Given the description of an element on the screen output the (x, y) to click on. 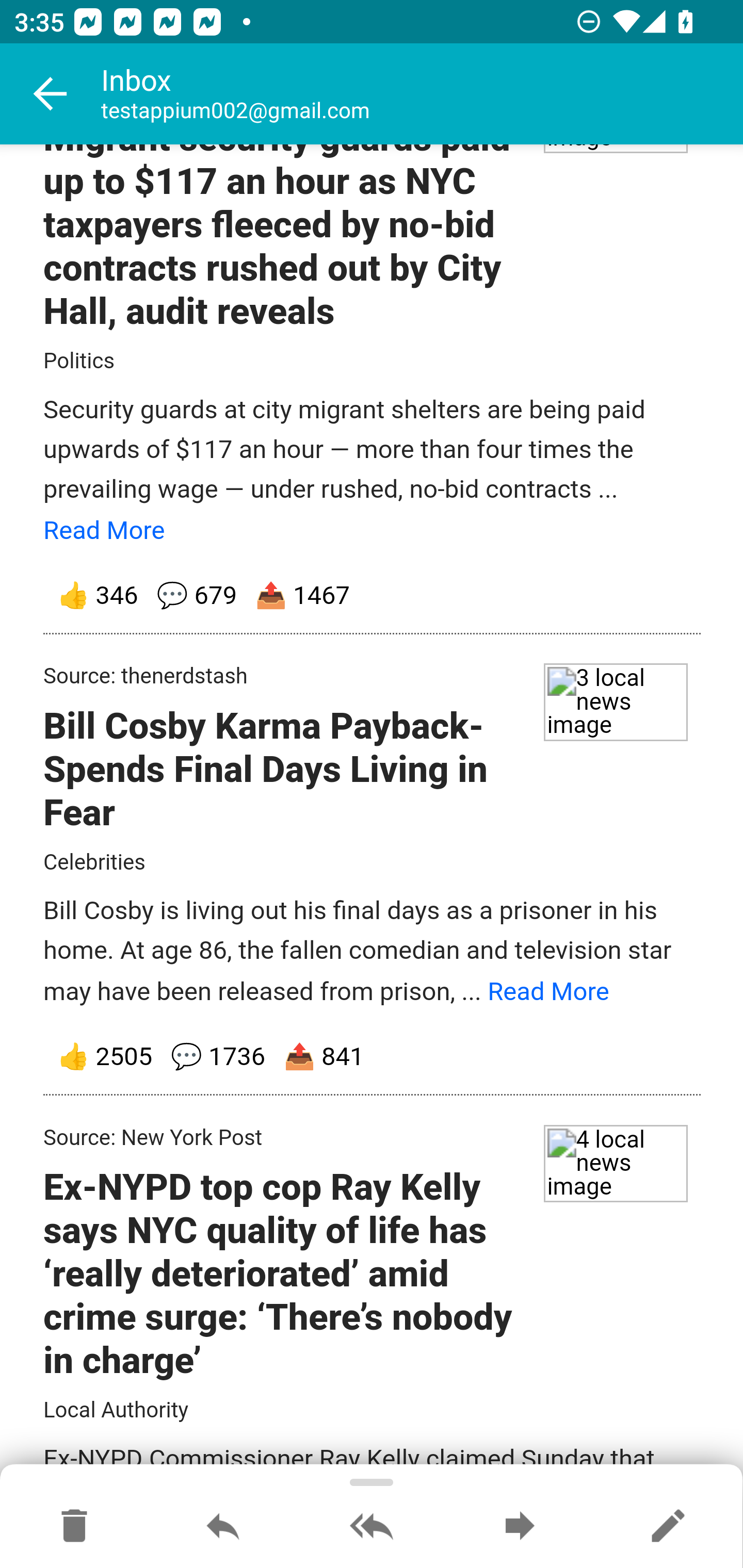
Navigate up (50, 93)
Inbox testappium002@gmail.com (422, 93)
👍 346   💬 679   📤 1467 (372, 596)
👍 2505   💬 1736   📤 841 (372, 1058)
Move to Deleted (74, 1527)
Reply (222, 1527)
Reply all (371, 1527)
Forward (519, 1527)
Reply as new (667, 1527)
